Given the description of an element on the screen output the (x, y) to click on. 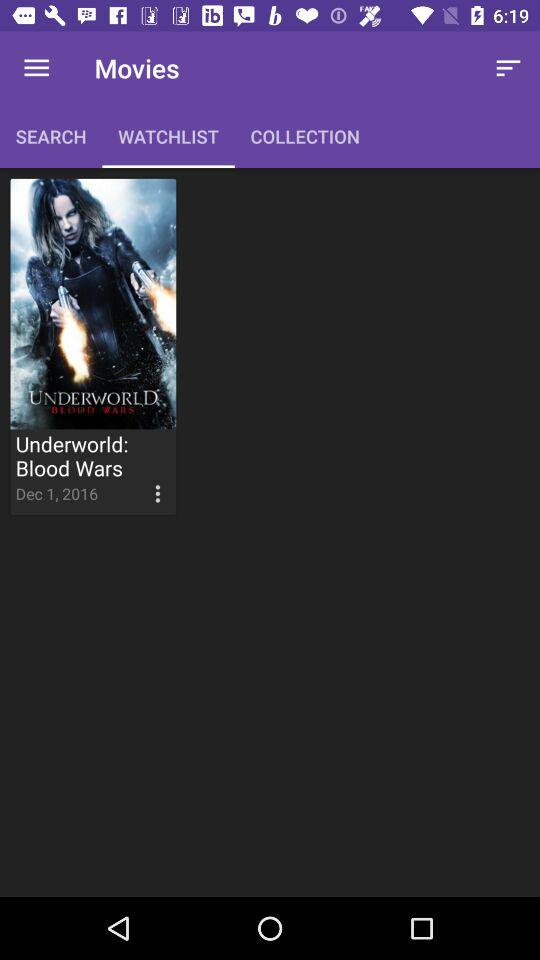
press the icon to the right of the dec 1, 2016 (139, 477)
